Given the description of an element on the screen output the (x, y) to click on. 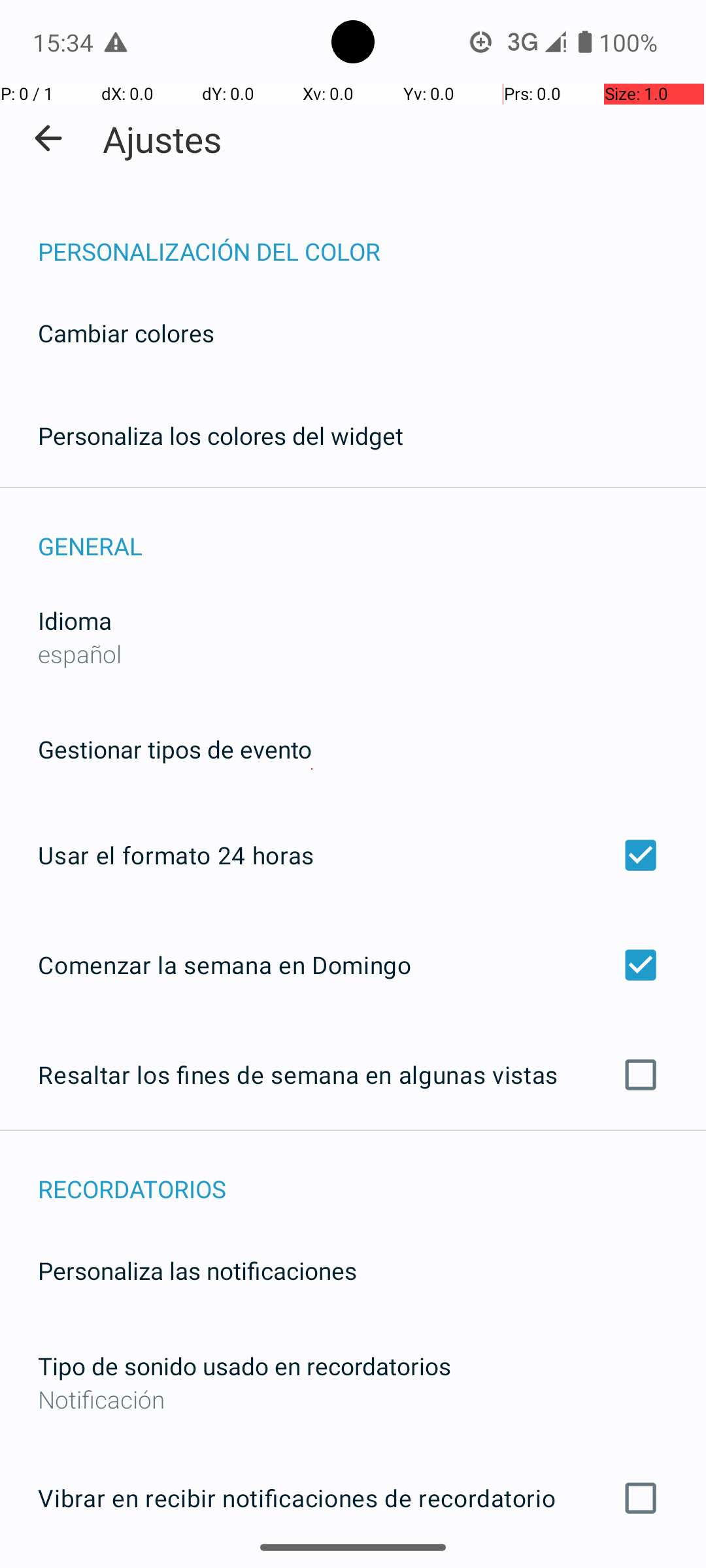
PERSONALIZACIÓN DEL COLOR Element type: android.widget.TextView (371, 237)
GENERAL Element type: android.widget.TextView (371, 532)
RECORDATORIOS Element type: android.widget.TextView (371, 1174)
Cambiar colores Element type: android.widget.TextView (125, 332)
Personaliza los colores del widget Element type: android.widget.TextView (220, 435)
Idioma Element type: android.widget.TextView (74, 620)
español Element type: android.widget.TextView (79, 653)
Gestionar tipos de evento Element type: android.widget.TextView (174, 748)
Usar el formato 24 horas Element type: android.widget.CheckBox (352, 855)
Comenzar la semana en Domingo Element type: android.widget.CheckBox (352, 964)
Resaltar los fines de semana en algunas vistas Element type: android.widget.CheckBox (352, 1074)
Personaliza las notificaciones Element type: android.widget.TextView (196, 1270)
Tipo de sonido usado en recordatorios Element type: android.widget.TextView (244, 1365)
Notificación Element type: android.widget.TextView (352, 1398)
Vibrar en recibir notificaciones de recordatorio Element type: android.widget.CheckBox (352, 1497)
Repetir recordatorios hasta ser descartados Element type: android.widget.CheckBox (352, 1567)
